Given the description of an element on the screen output the (x, y) to click on. 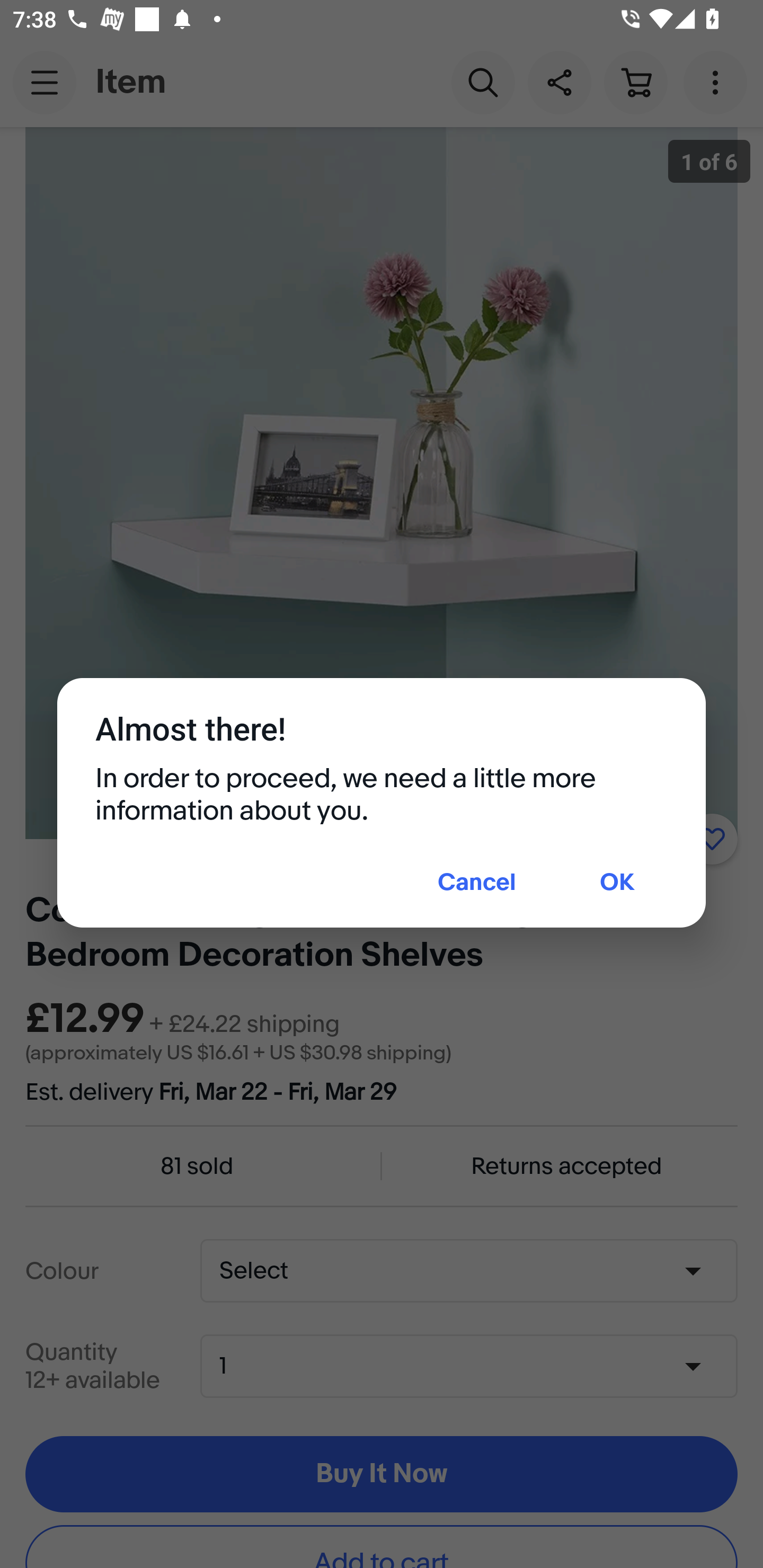
Cancel (476, 883)
OK (616, 883)
